Given the description of an element on the screen output the (x, y) to click on. 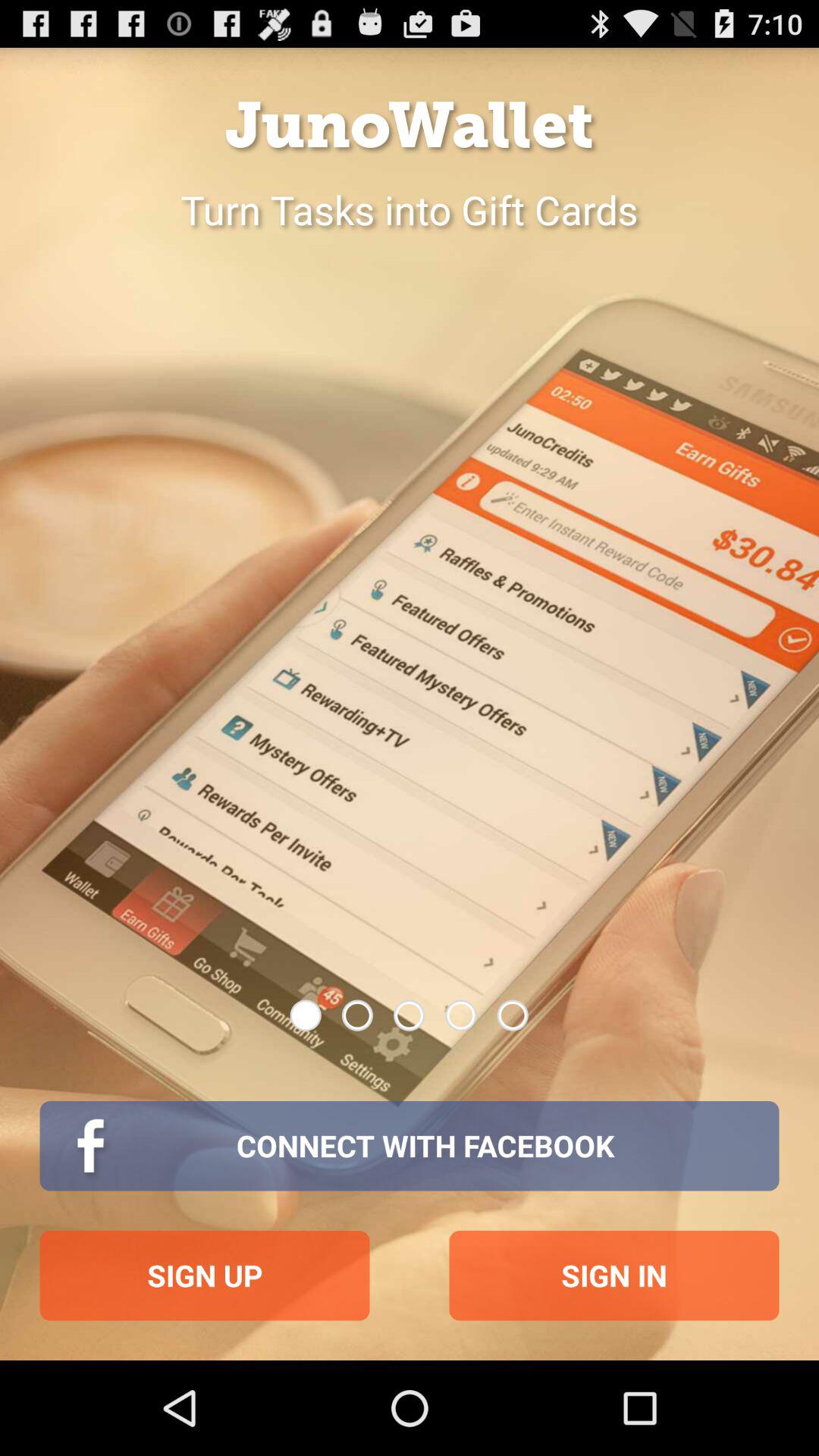
launch the sign in at the bottom right corner (614, 1275)
